Given the description of an element on the screen output the (x, y) to click on. 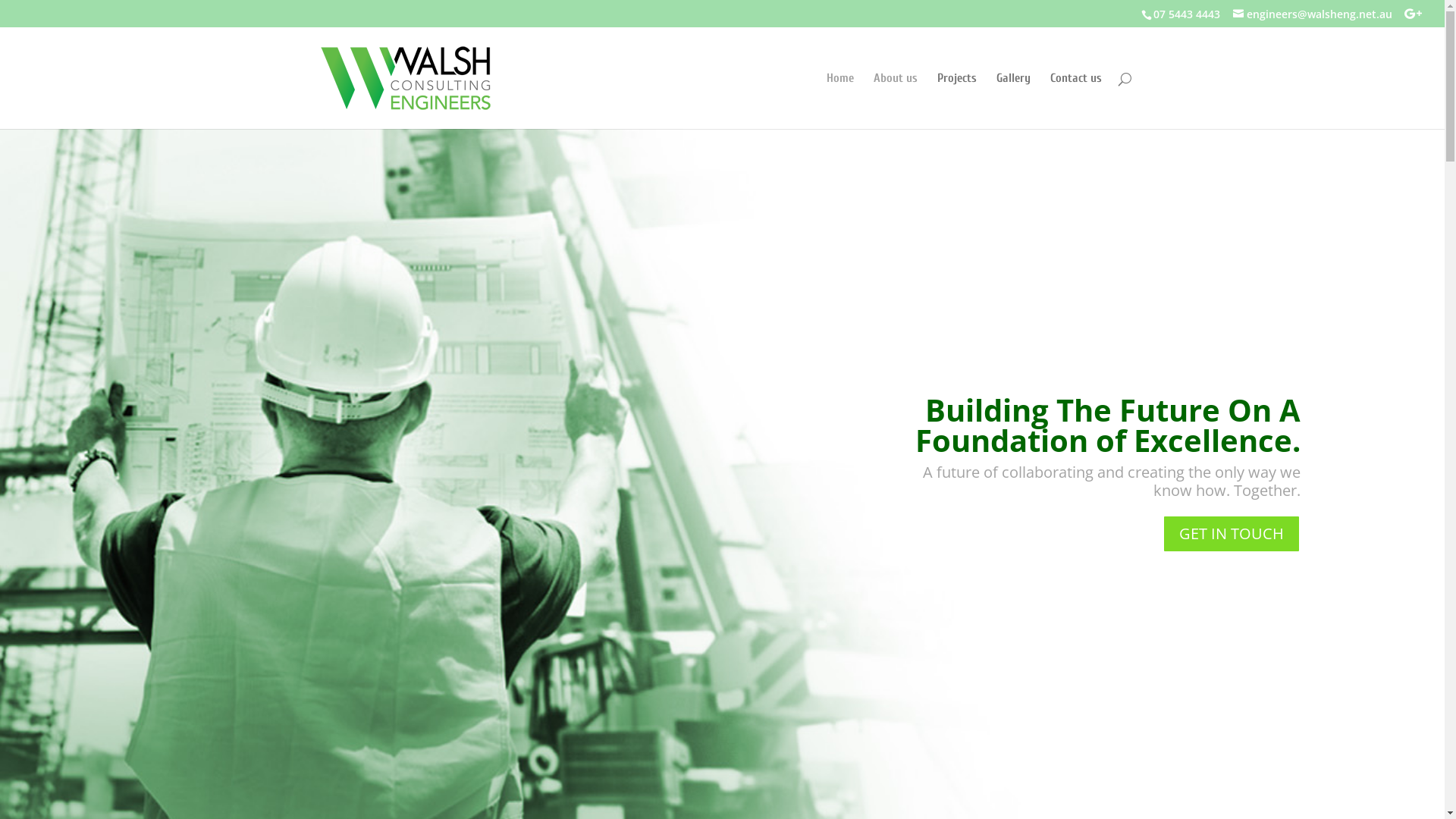
Projects Element type: text (956, 100)
Contact us Element type: text (1075, 100)
Home Element type: text (839, 100)
Gallery Element type: text (1013, 100)
About us Element type: text (895, 100)
engineers@walsheng.net.au Element type: text (1312, 13)
GET IN TOUCH Element type: text (1230, 533)
